Given the description of an element on the screen output the (x, y) to click on. 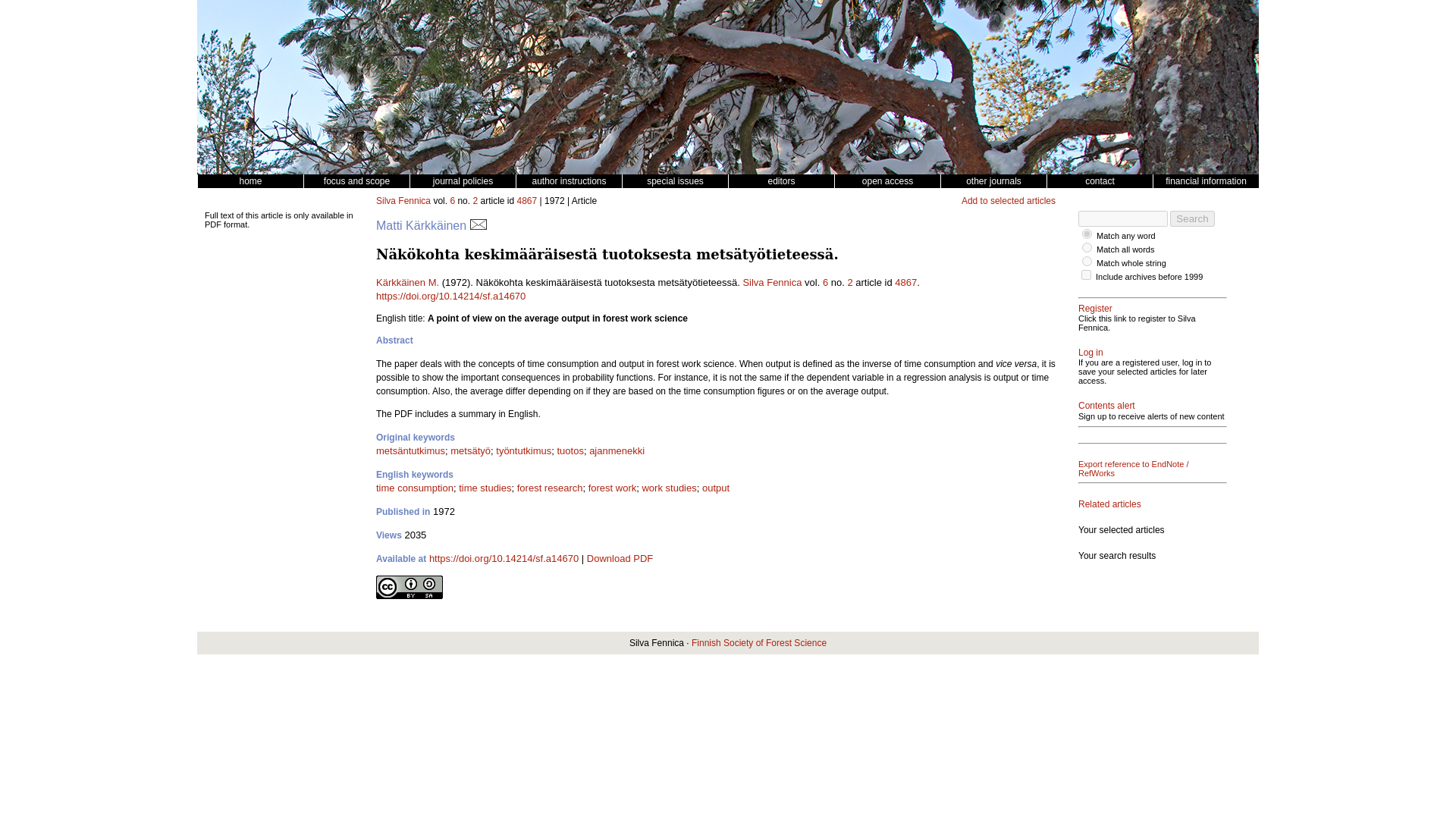
home (249, 181)
focus and scope (355, 181)
and (1086, 247)
journal policies (462, 181)
or (1086, 234)
on (1085, 275)
special issues (674, 181)
author instructions (568, 181)
Silva Fennica (402, 200)
financial information (1206, 181)
